Given the description of an element on the screen output the (x, y) to click on. 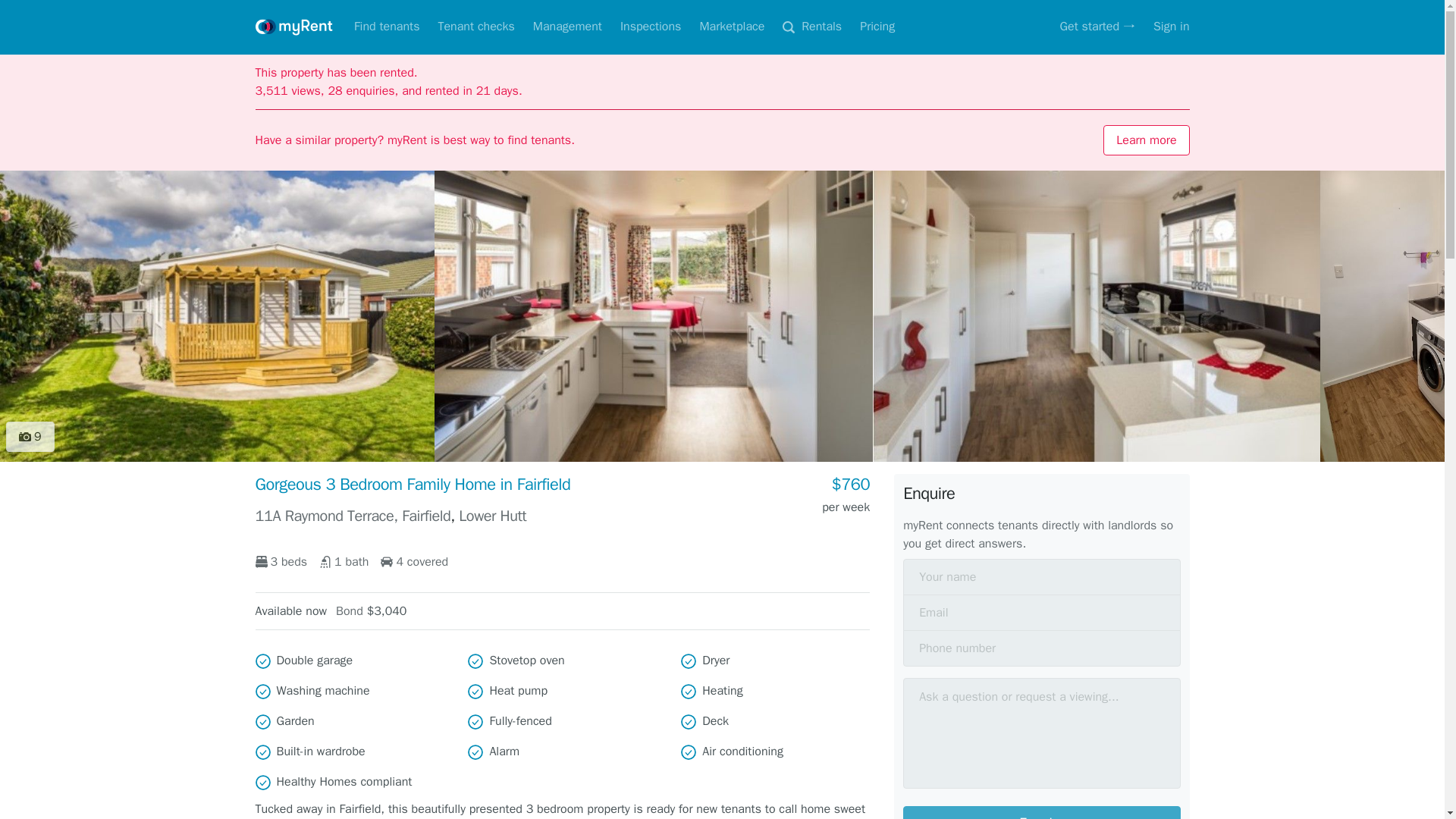
9 (30, 436)
Inspections (650, 27)
Tenant checks (475, 27)
Find tenants (386, 27)
Marketplace (731, 27)
Enquire (1040, 812)
Rentals (812, 27)
Fairfield (425, 515)
Enquire (1040, 812)
Lower Hutt (491, 515)
Management (567, 27)
Learn more (1146, 140)
